Given the description of an element on the screen output the (x, y) to click on. 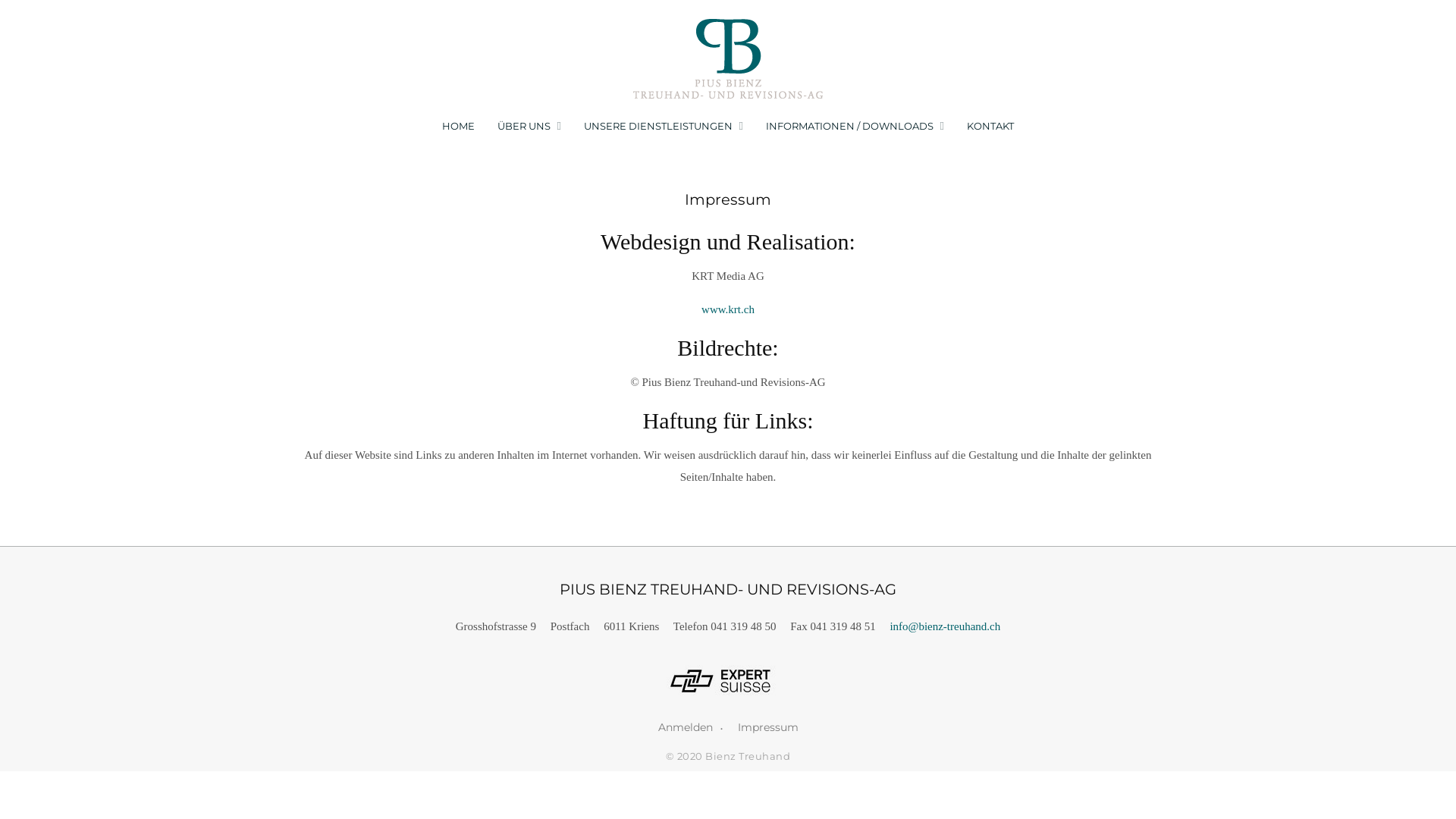
info@bienz-treuhand.ch Element type: text (944, 626)
INFORMATIONEN / DOWNLOADS Element type: text (849, 125)
www.krt.ch Element type: text (727, 309)
KONTAKT Element type: text (989, 125)
Impressum Element type: text (767, 727)
HOME Element type: text (458, 125)
UNSERE DIENSTLEISTUNGEN Element type: text (657, 125)
Anmelden Element type: text (690, 727)
